Given the description of an element on the screen output the (x, y) to click on. 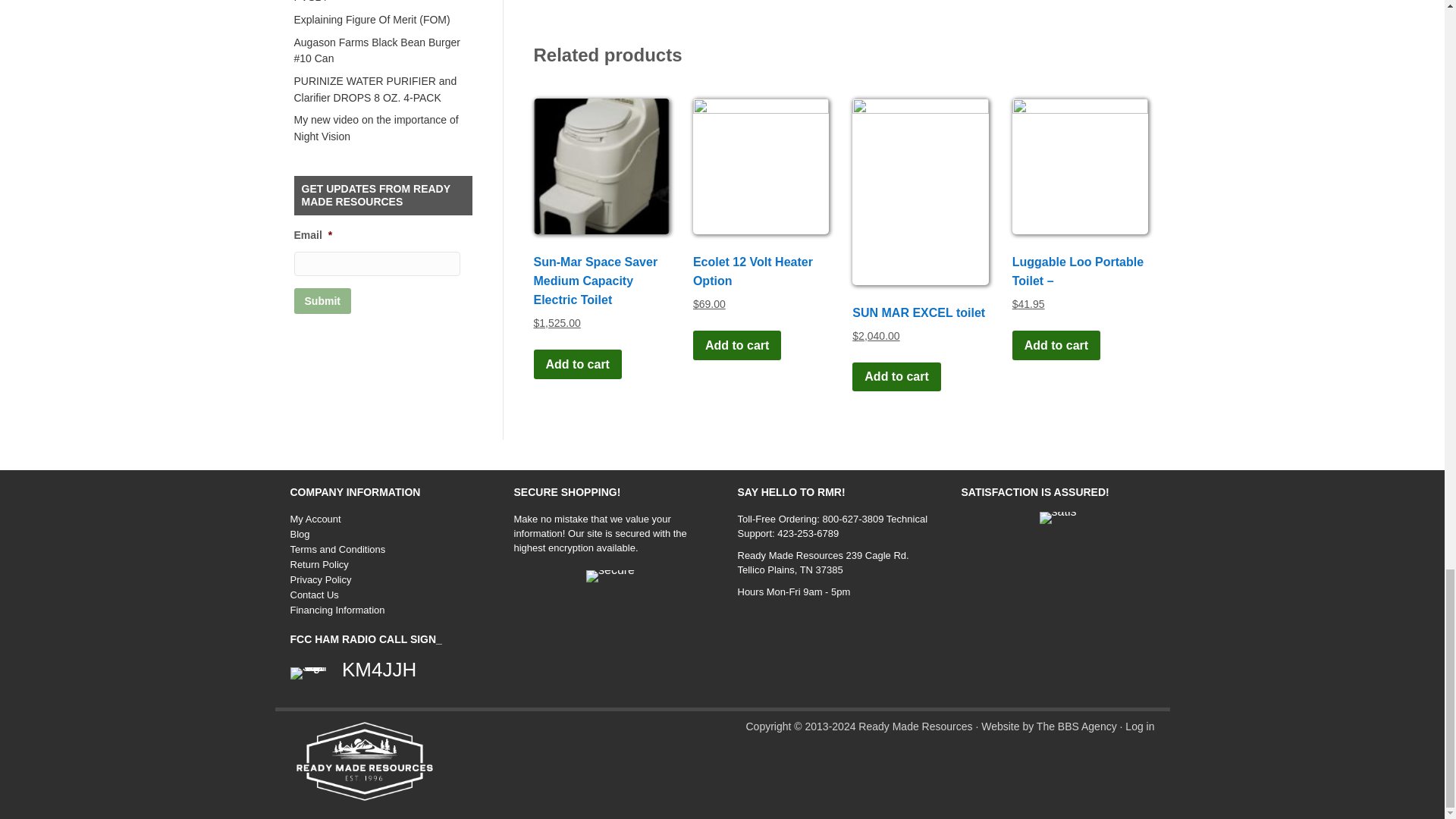
Submit (322, 300)
FCC HAM Call Sign - KM4IEQ (307, 673)
New RMR Logo White Text No Background Trimmed (363, 761)
satis (1058, 517)
secure (610, 576)
